Given the description of an element on the screen output the (x, y) to click on. 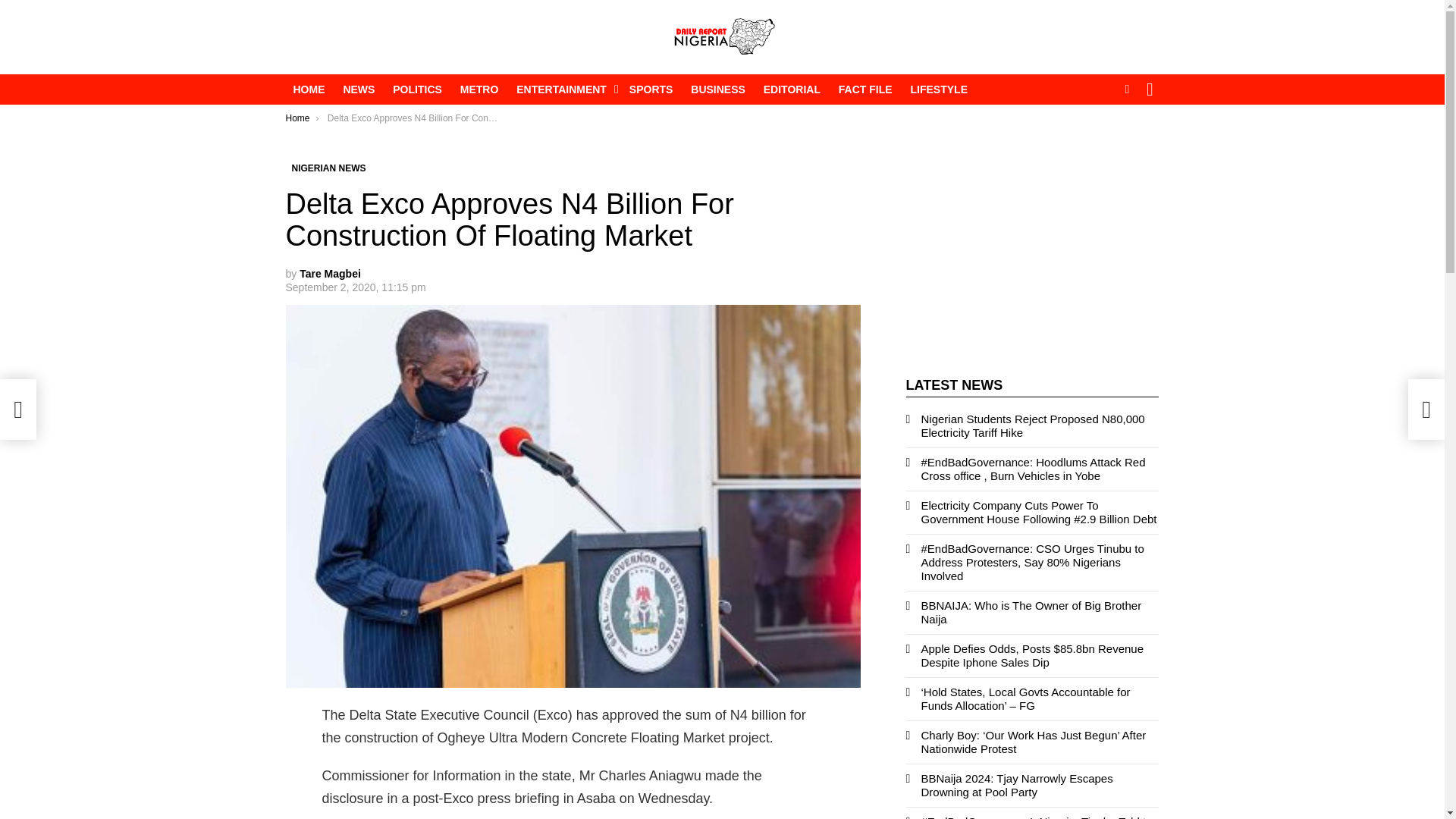
SPORTS (651, 88)
BUSINESS (717, 88)
Posts by Tare Magbei (330, 273)
POLITICS (417, 88)
NEWS (357, 88)
METRO (479, 88)
FACT FILE (865, 88)
ENTERTAINMENT (563, 88)
LIFESTYLE (938, 88)
HOME (308, 88)
EDITORIAL (791, 88)
